Given the description of an element on the screen output the (x, y) to click on. 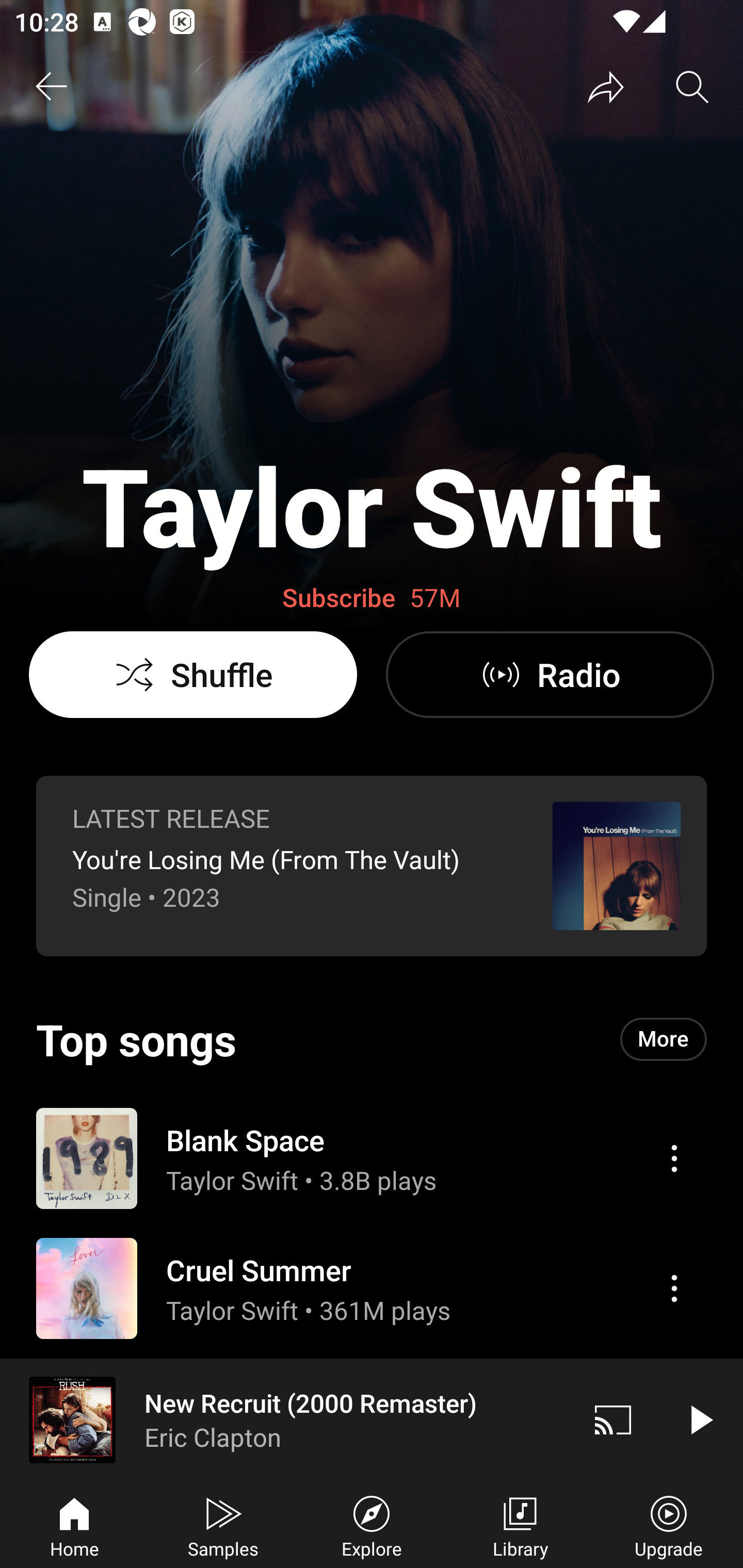
Back (50, 86)
Share (605, 86)
Search (692, 86)
Subscribe 57M (371, 598)
Shuffle (192, 674)
Radio (549, 674)
Action menu (371, 1157)
Action menu (673, 1158)
Action menu (371, 1288)
Action menu (673, 1288)
New Recruit (2000 Remaster) Eric Clapton (284, 1419)
Cast. Disconnected (612, 1419)
Play video (699, 1419)
Home (74, 1524)
Samples (222, 1524)
Explore (371, 1524)
Library (519, 1524)
Upgrade (668, 1524)
